Given the description of an element on the screen output the (x, y) to click on. 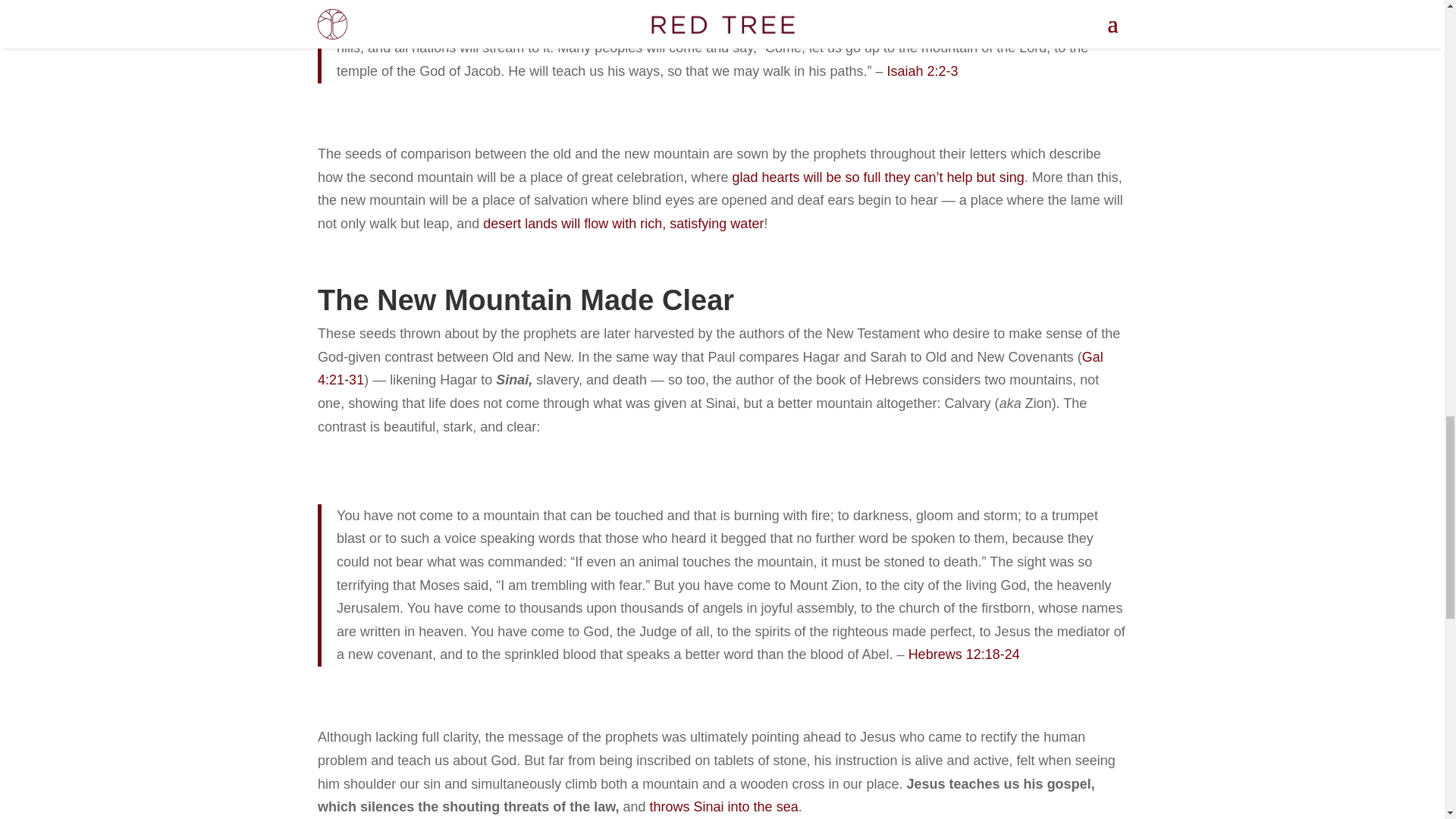
Hebrews 12:18-24 (964, 654)
Gal 4:21-31 (710, 368)
desert lands will flow with rich, satisfying water (622, 223)
throws Sinai into the sea (723, 806)
Isaiah 2:2-3 (922, 70)
